Given the description of an element on the screen output the (x, y) to click on. 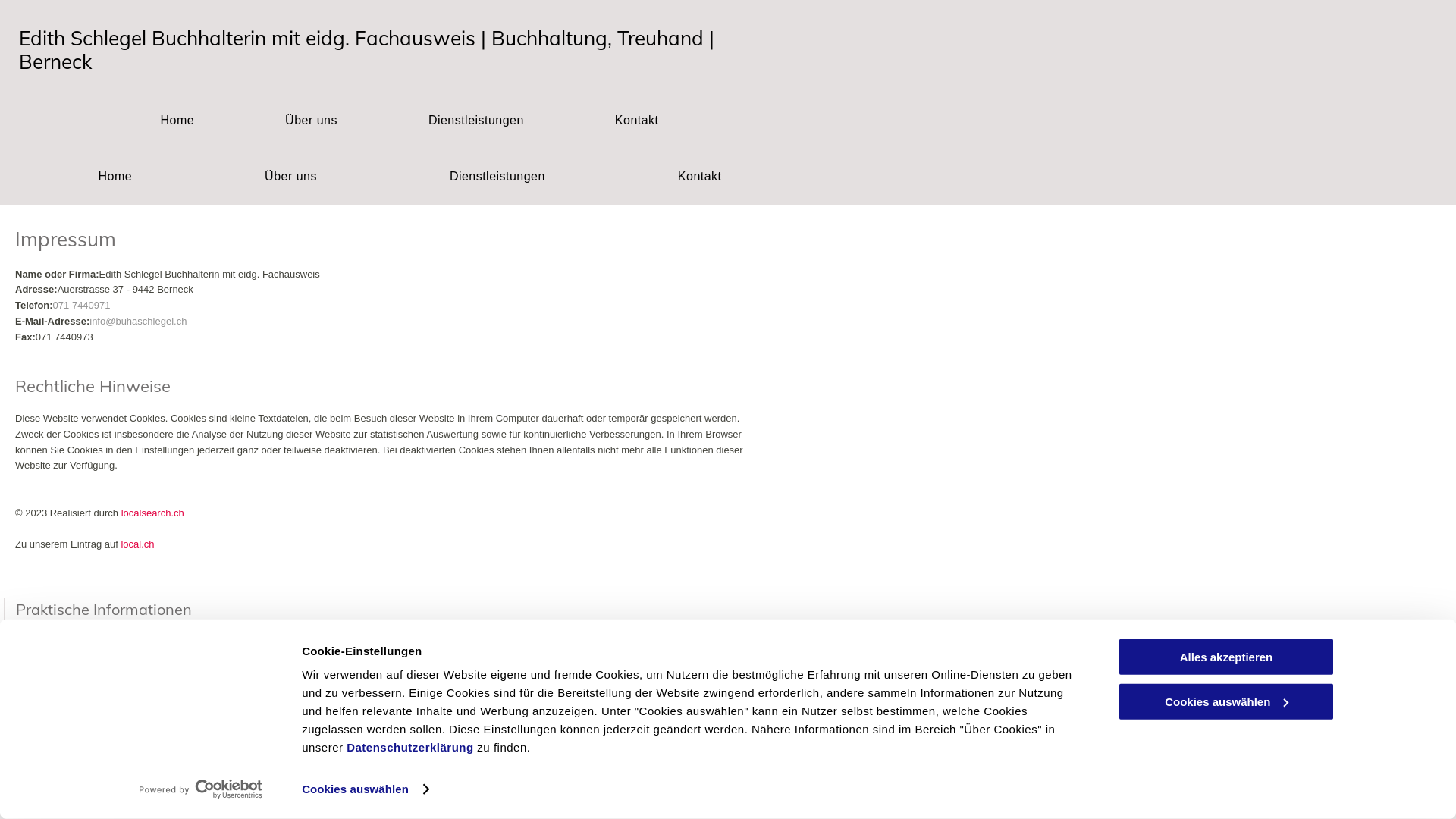
9442 Berneck Element type: text (61, 672)
info@buhaschlegel.ch Element type: text (137, 320)
Alles akzeptieren Element type: text (1225, 656)
Auerstrasse 37 Element type: text (64, 658)
local.ch Element type: text (136, 543)
Dienstleistungen Element type: text (496, 176)
Home Element type: text (177, 120)
071 7440971 Element type: text (81, 304)
Dienstleistungen Element type: text (475, 120)
Kontakt Element type: text (699, 176)
Home Element type: text (114, 176)
071 744 09 71 Element type: text (79, 632)
localsearch.ch Element type: text (152, 512)
Kontakt Element type: text (636, 120)
info@buhaschlegel.ch Element type: text (79, 695)
